Given the description of an element on the screen output the (x, y) to click on. 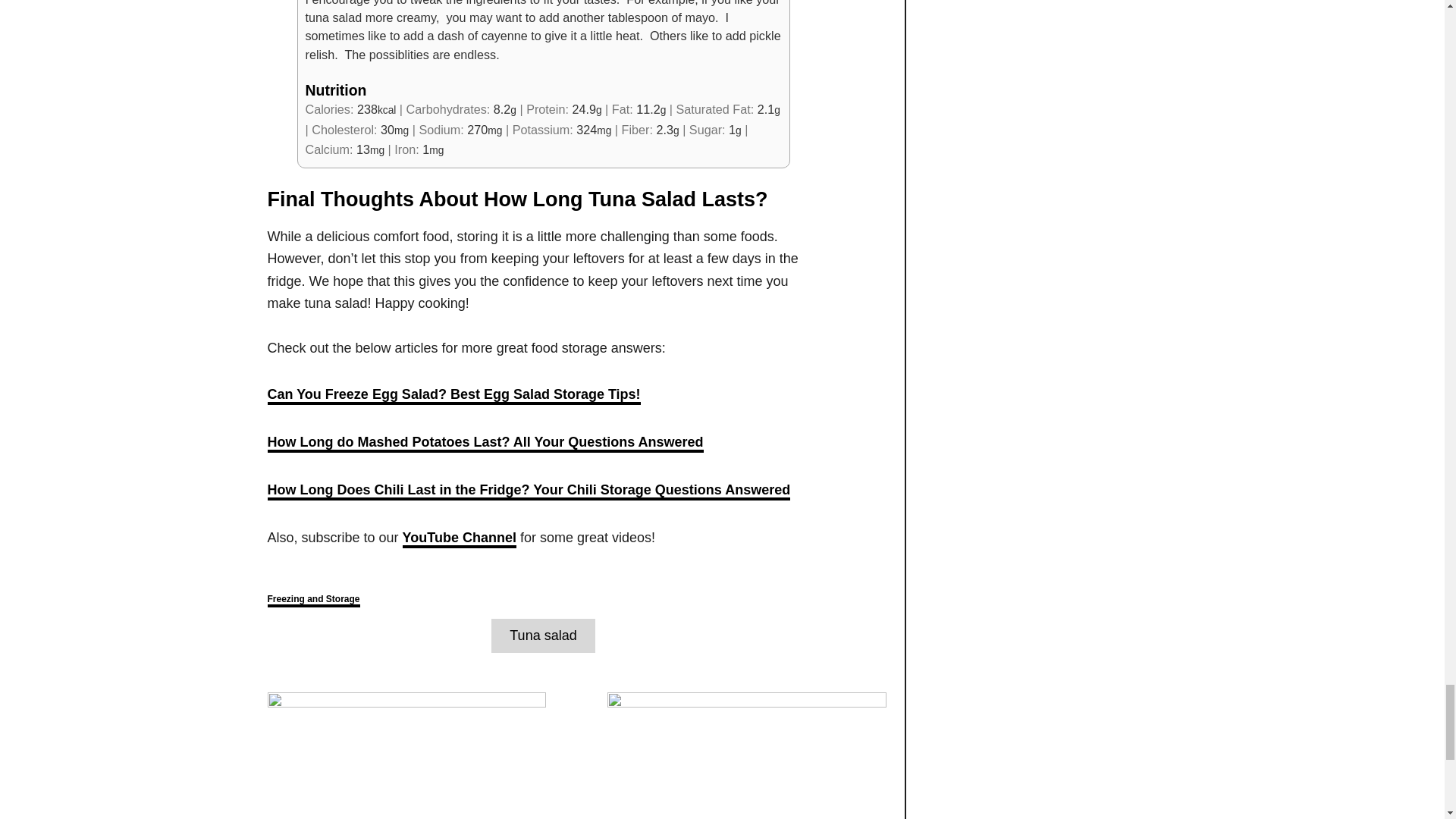
Freezing and Storage (312, 600)
Can You Freeze Egg Salad? Best Egg Salad Storage Tips! (453, 395)
Tuna salad (543, 635)
YouTube Channel (459, 538)
